Given the description of an element on the screen output the (x, y) to click on. 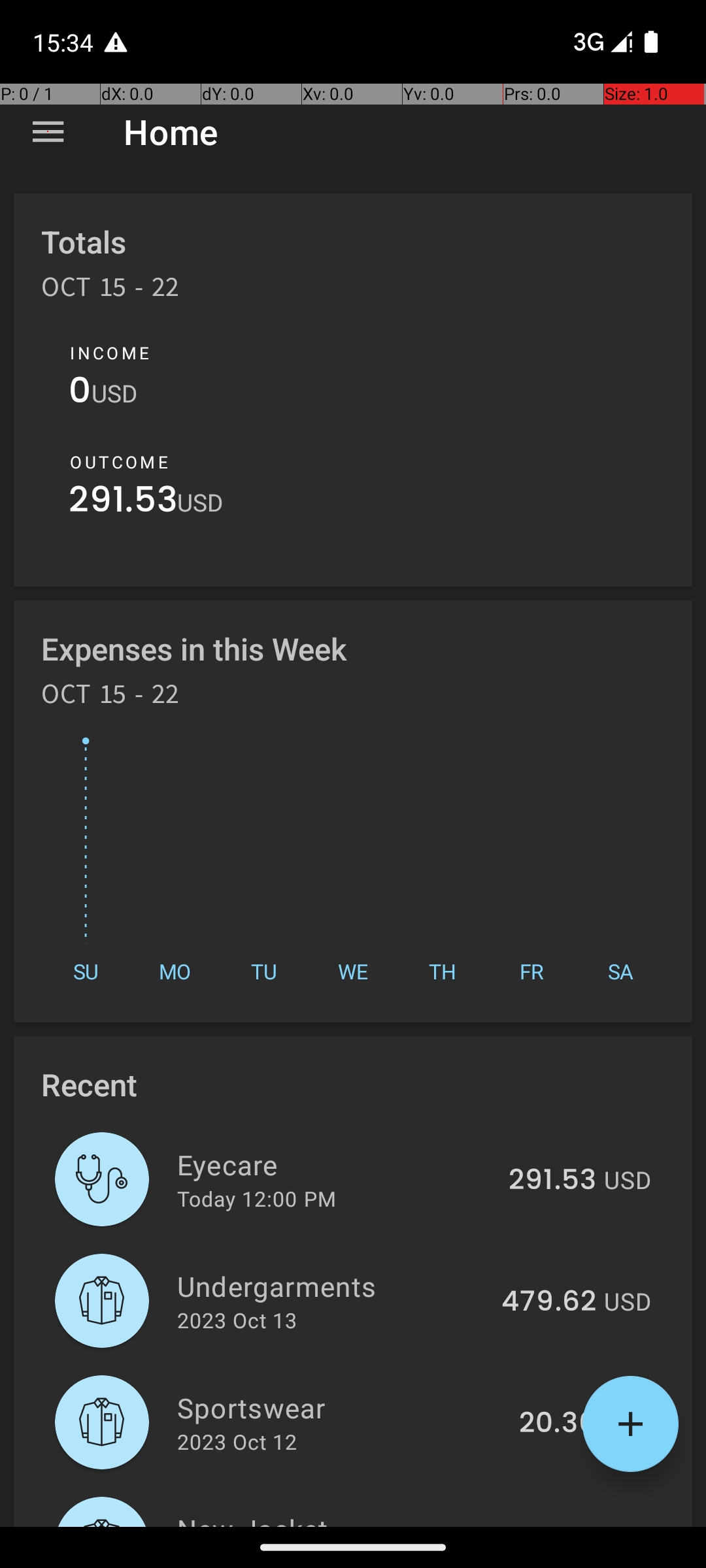
Totals Element type: android.widget.TextView (83, 240)
OCT 15 - 22 Element type: android.widget.TextView (110, 291)
INCOME Element type: android.widget.TextView (109, 352)
USD Element type: android.widget.TextView (114, 392)
OUTCOME Element type: android.widget.TextView (118, 461)
291.53 Element type: android.widget.TextView (122, 502)
Expenses in this Week Element type: android.widget.TextView (194, 648)
Recent Element type: android.widget.TextView (89, 1083)
Eyecare Element type: android.widget.TextView (335, 1164)
Today 12:00 PM Element type: android.widget.TextView (256, 1198)
Undergarments Element type: android.widget.TextView (331, 1285)
2023 Oct 13 Element type: android.widget.TextView (236, 1320)
479.62 Element type: android.widget.TextView (548, 1301)
Sportswear Element type: android.widget.TextView (340, 1407)
2023 Oct 12 Element type: android.widget.TextView (236, 1441)
20.36 Element type: android.widget.TextView (557, 1423)
New Jacket Element type: android.widget.TextView (334, 1518)
351.64 Element type: android.widget.TextView (550, 1524)
